Given the description of an element on the screen output the (x, y) to click on. 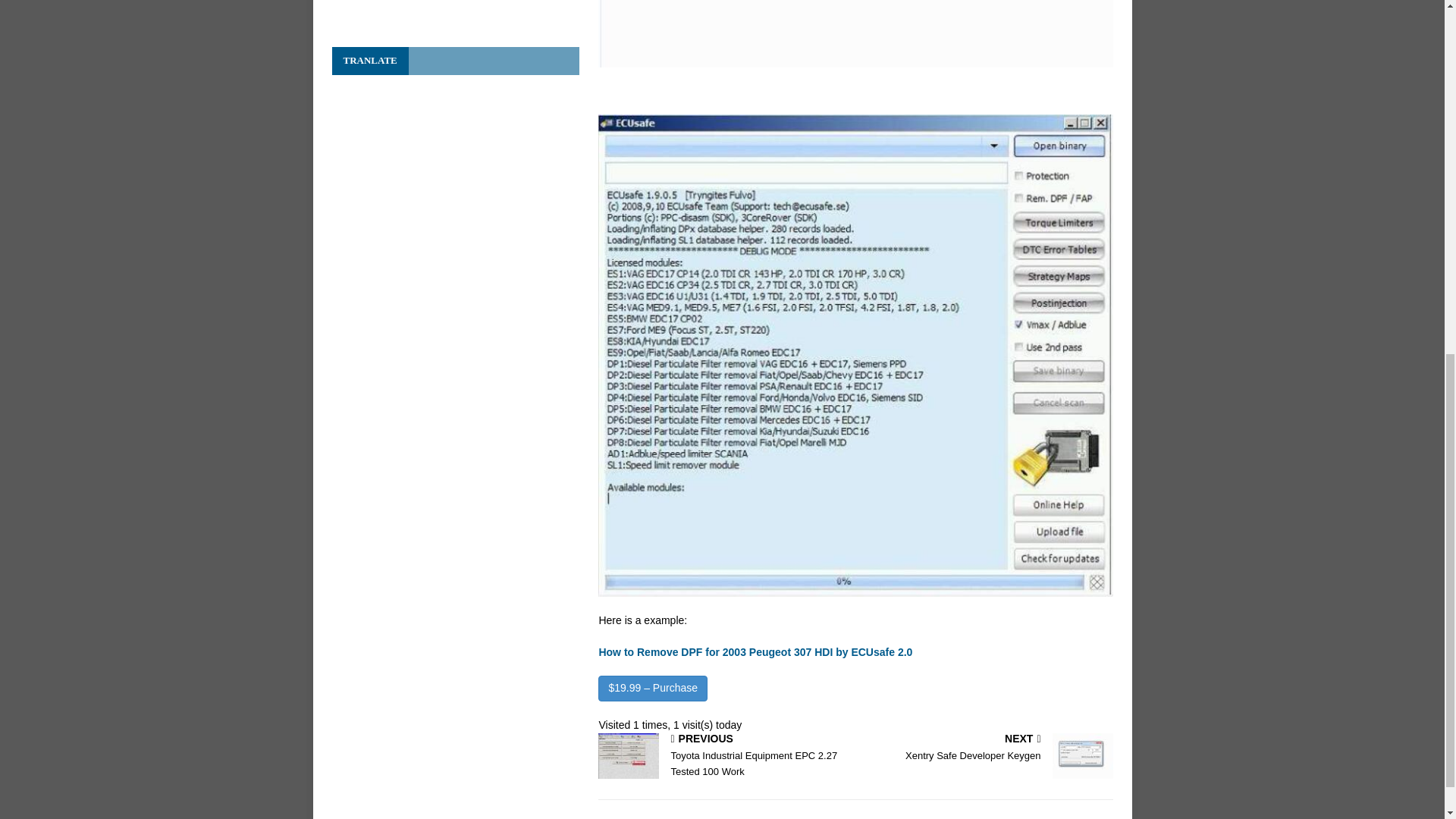
How to Remove DPF for 2003 Peugeot 307 HDI by ECUsafe 2.0 (755, 652)
Advertisement (987, 748)
